Given the description of an element on the screen output the (x, y) to click on. 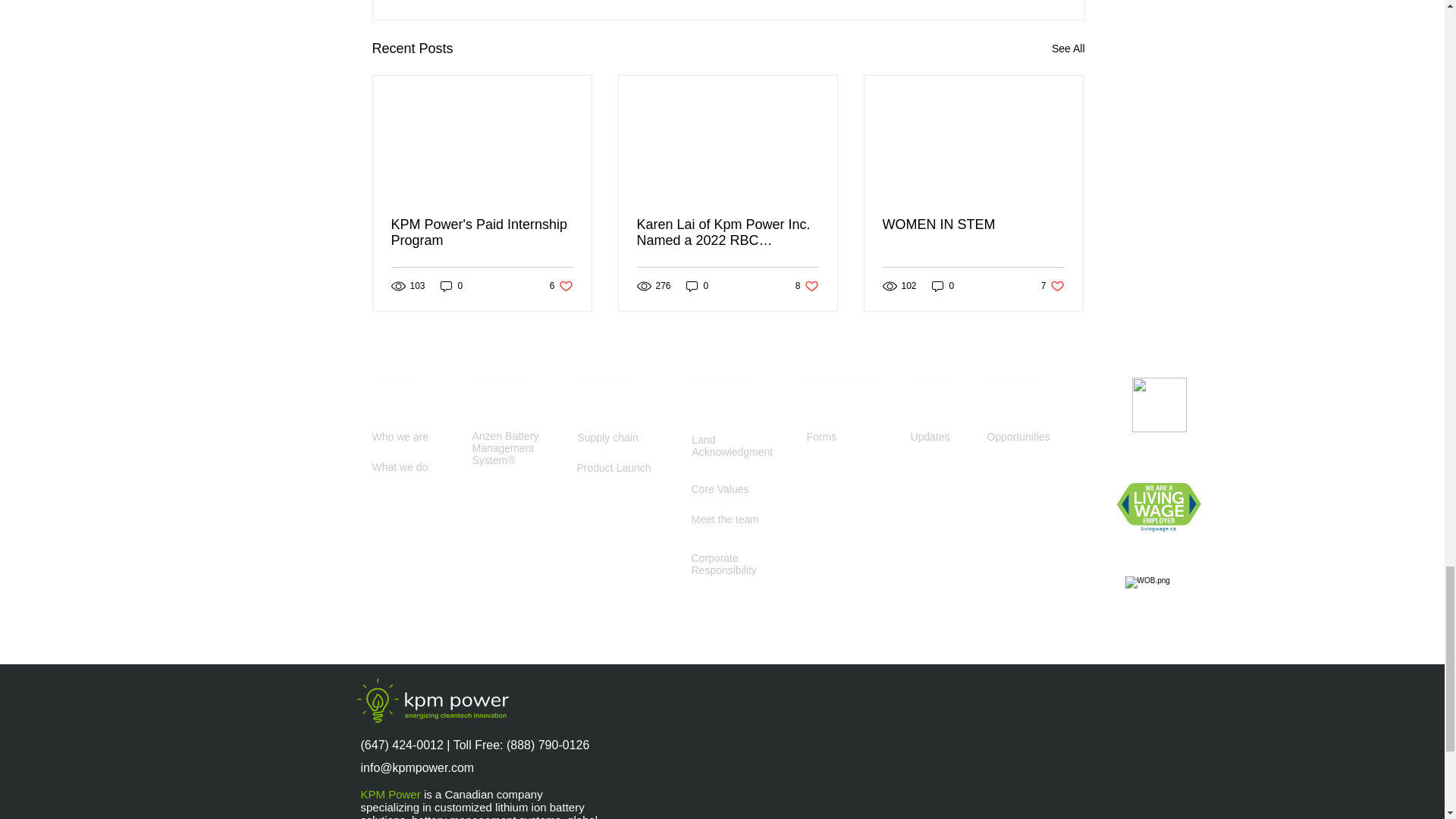
KPM Power's Paid Internship Program (561, 286)
See All (482, 232)
0 (1067, 48)
OntarioMadeLogo2.png (697, 286)
0 (1158, 404)
